Given the description of an element on the screen output the (x, y) to click on. 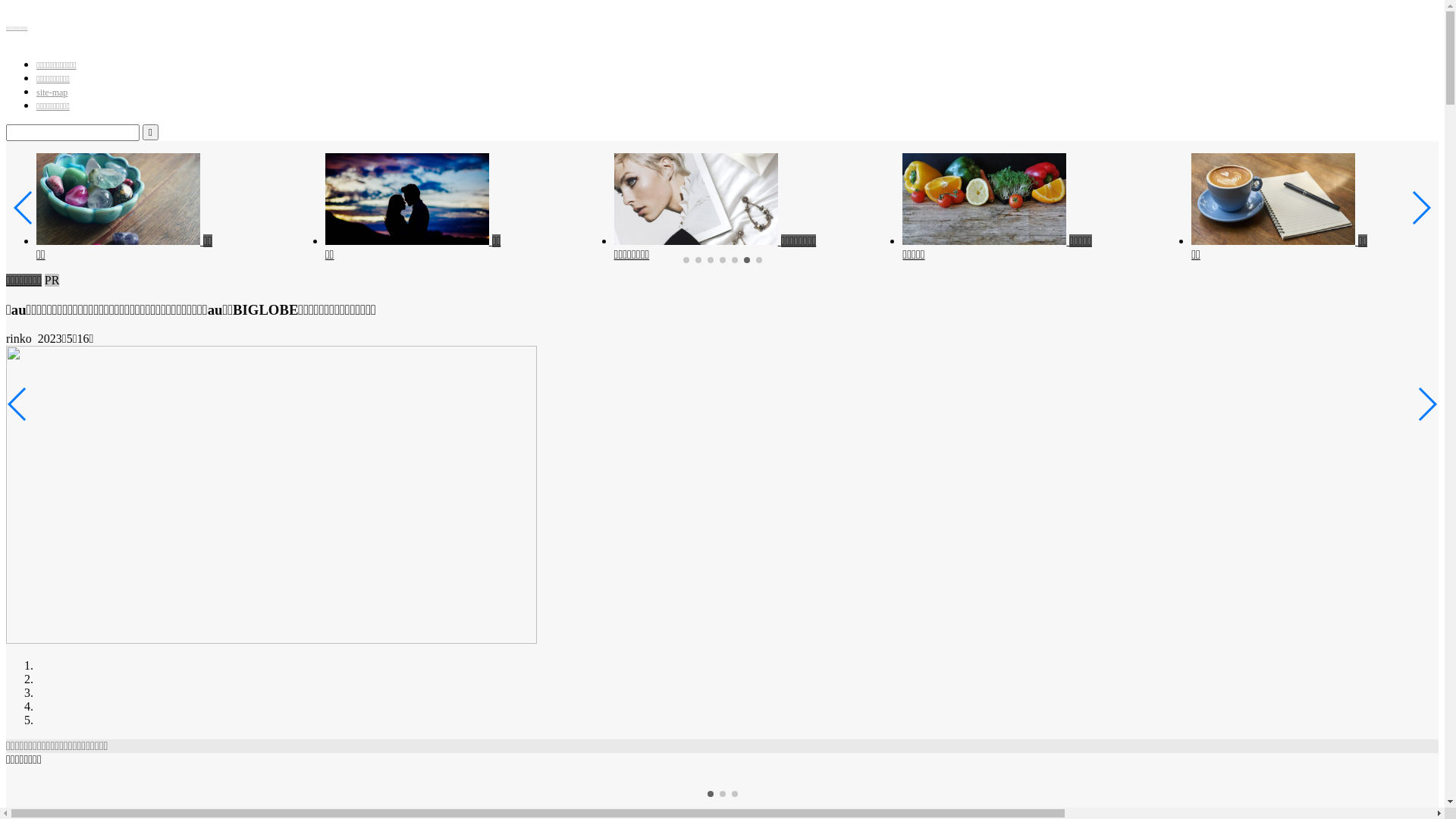
site-map Element type: text (51, 92)
